Given the description of an element on the screen output the (x, y) to click on. 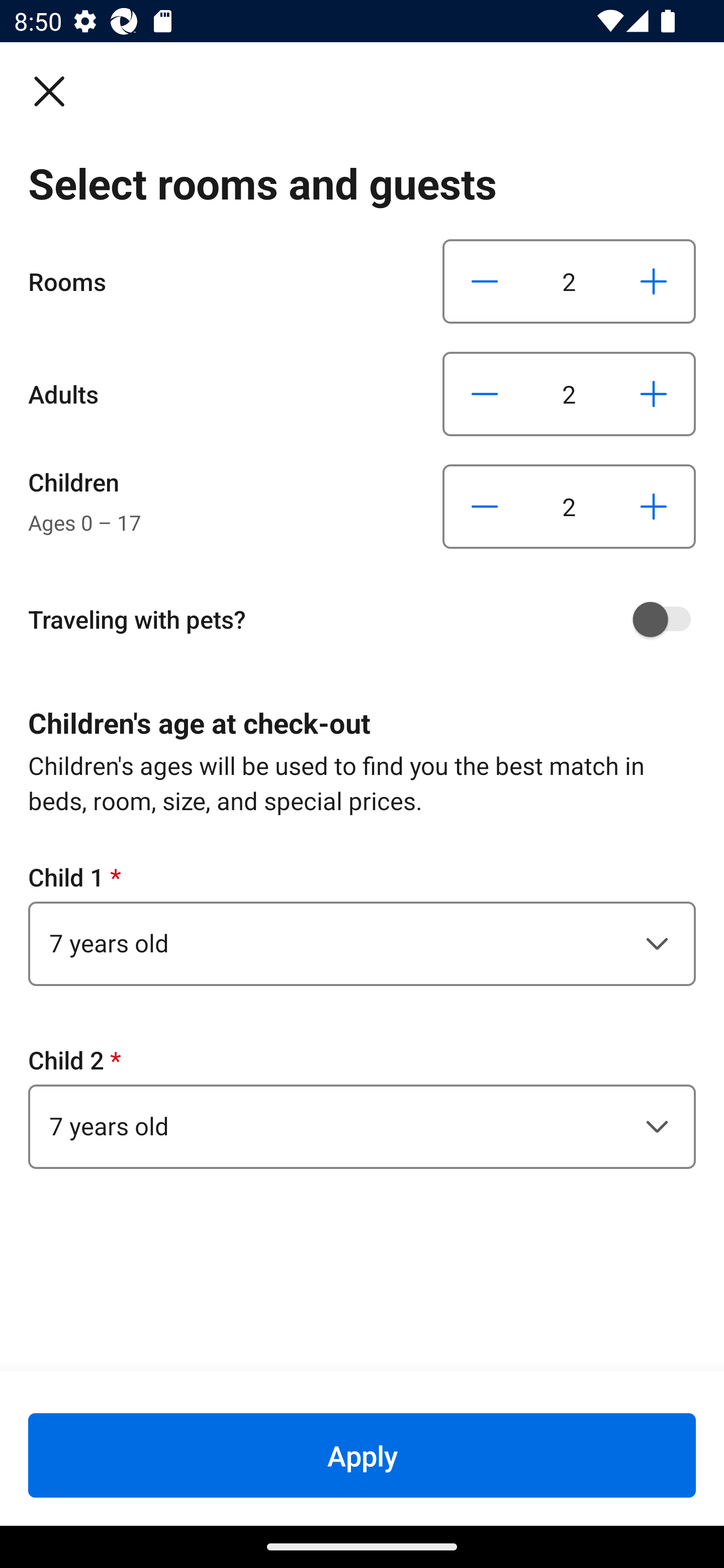
Decrease (484, 281)
Increase (653, 281)
Decrease (484, 393)
Increase (653, 393)
Decrease (484, 506)
Increase (653, 506)
Traveling with pets? (369, 619)
Child 1
required Child 1 * 7 years old (361, 922)
Child 2
required Child 2 * 7 years old (361, 1105)
Apply (361, 1454)
